Given the description of an element on the screen output the (x, y) to click on. 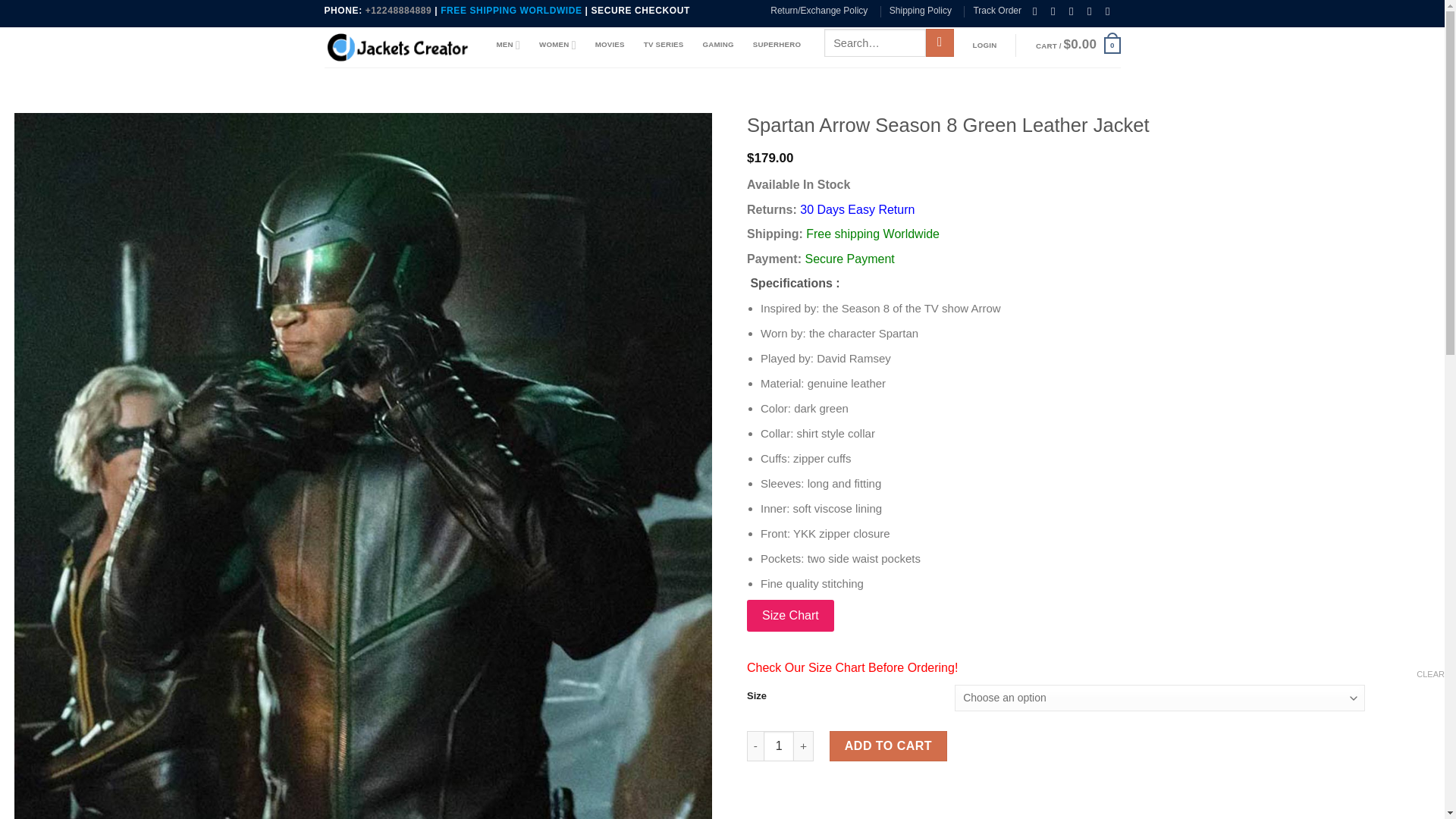
Jackets Creator (399, 47)
Cart (1078, 45)
GAMING (717, 44)
TV SERIES (663, 44)
Track Order (997, 11)
WOMEN (557, 44)
1 (777, 746)
Shipping Policy (920, 11)
